Given the description of an element on the screen output the (x, y) to click on. 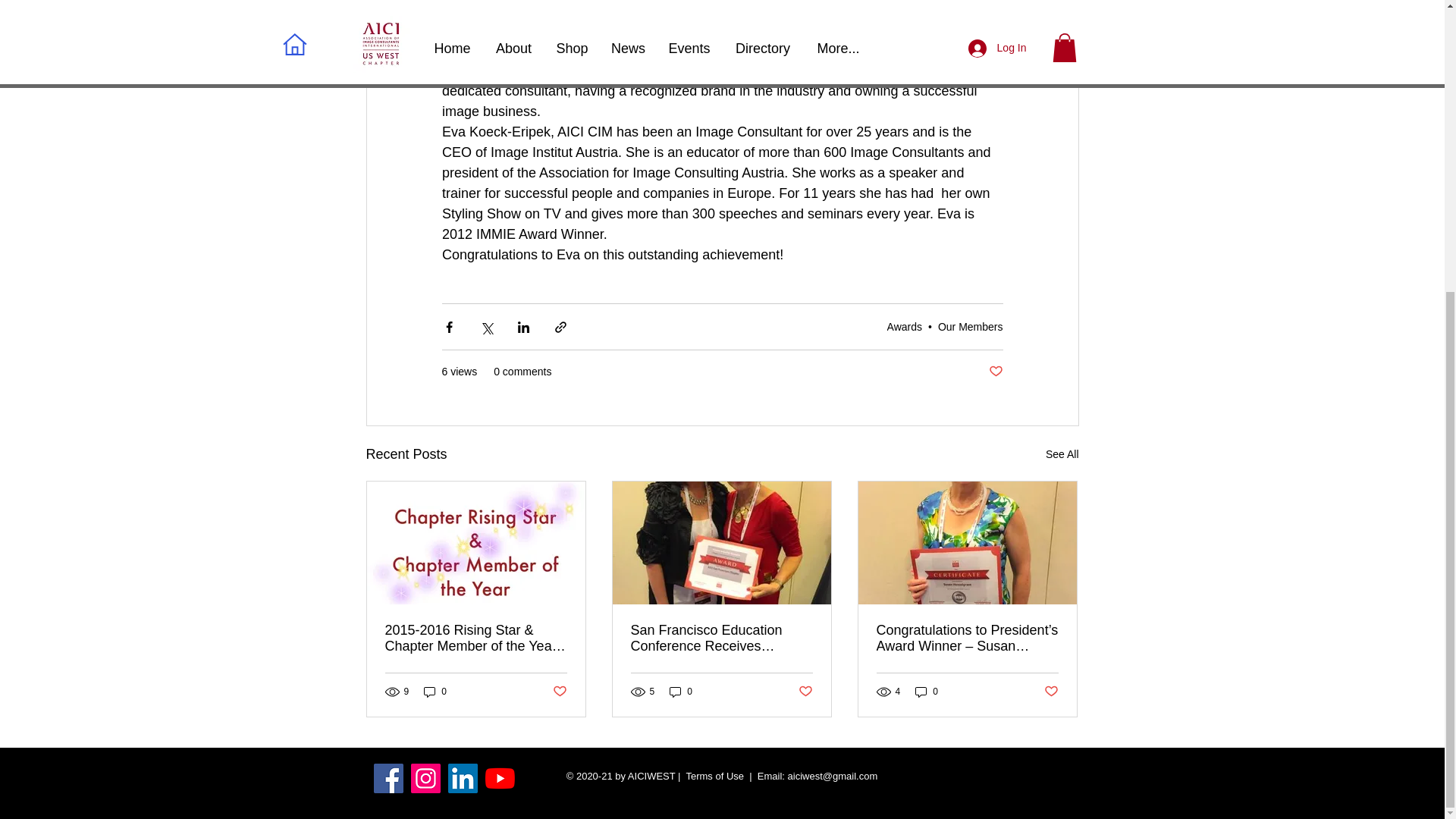
AICI website. (481, 49)
